Given the description of an element on the screen output the (x, y) to click on. 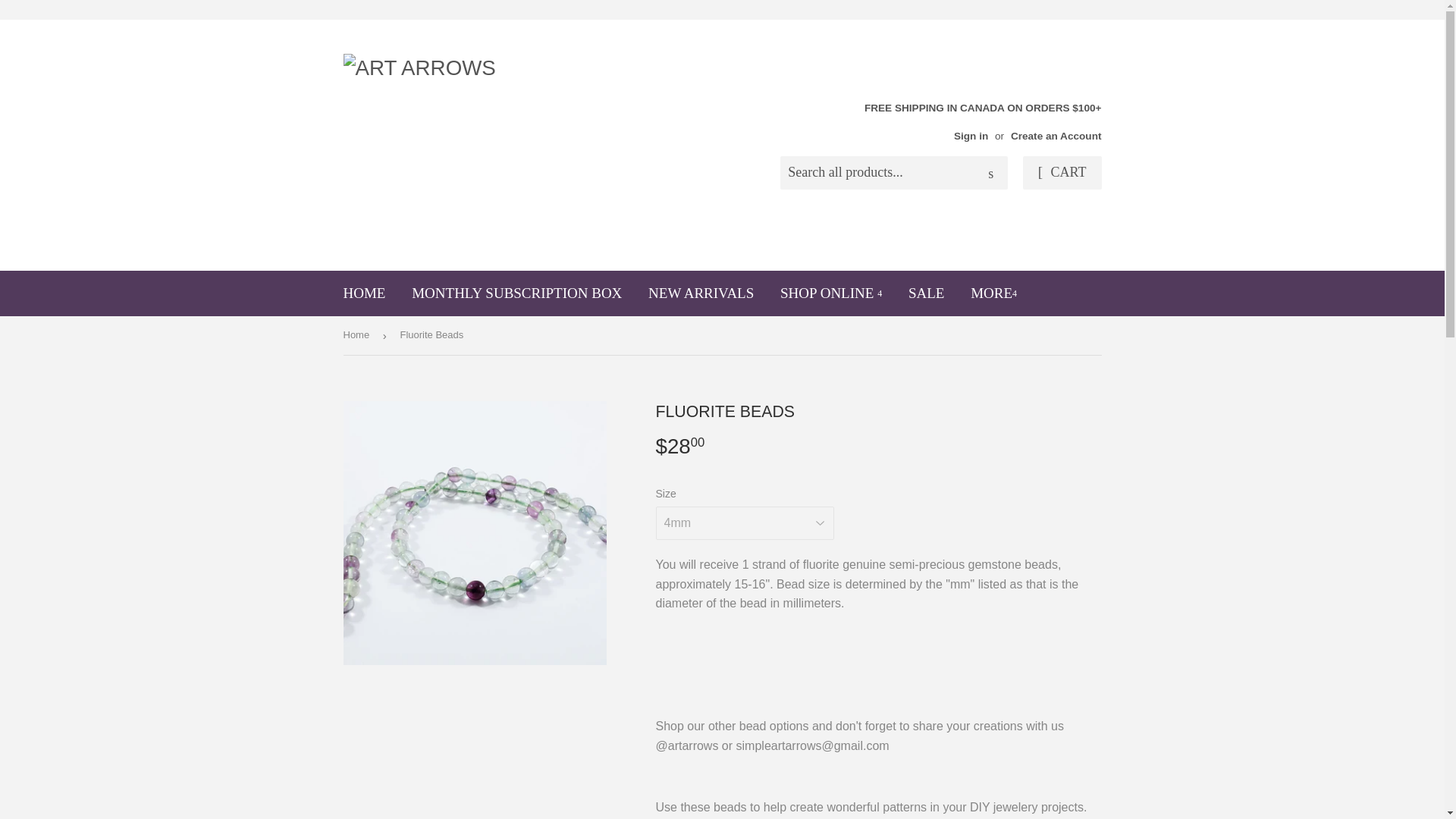
Sign in (970, 135)
CART (1062, 172)
Create an Account (1056, 135)
Search (990, 173)
